Given the description of an element on the screen output the (x, y) to click on. 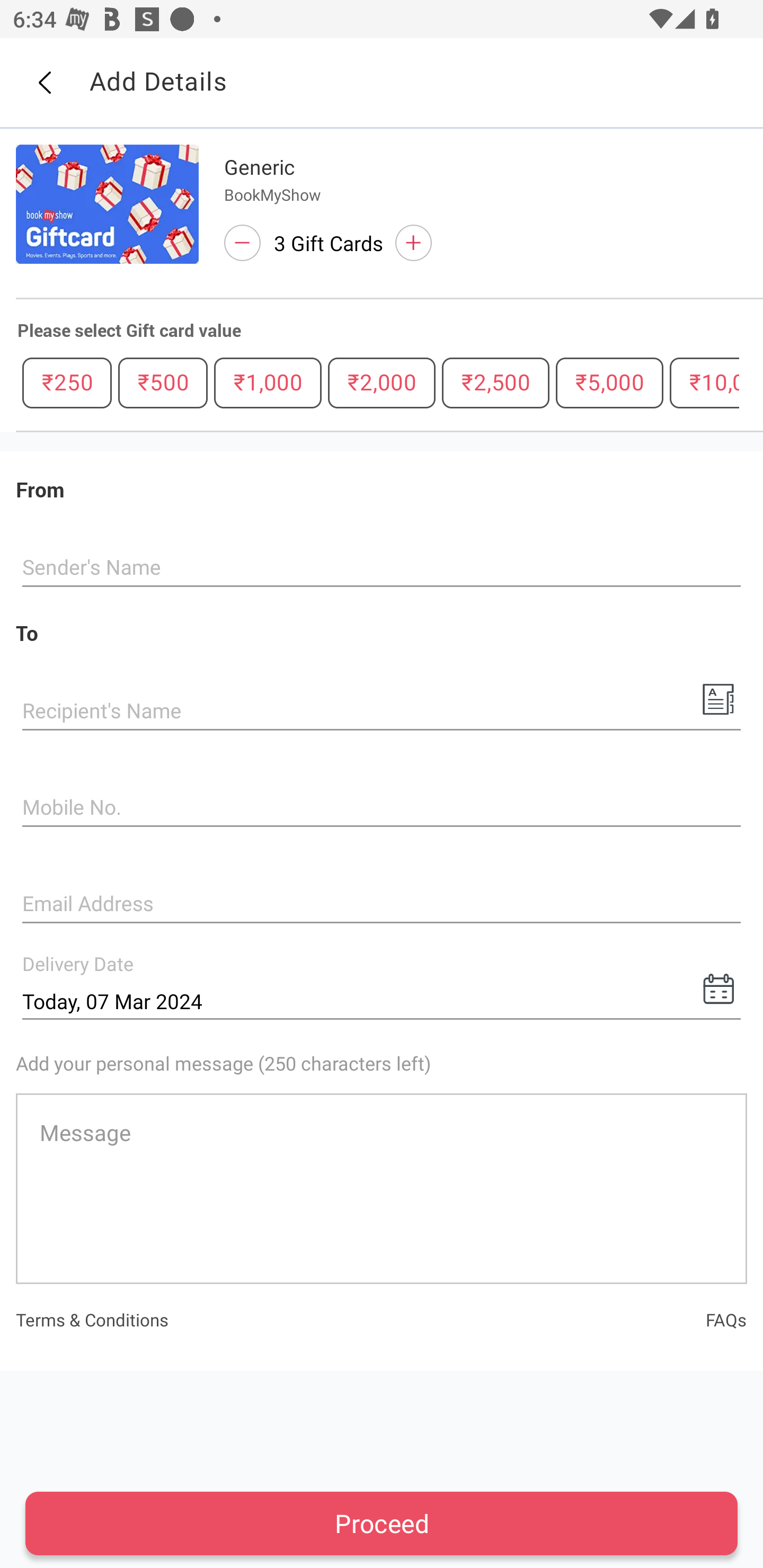
Back (44, 82)
Minus (242, 242)
Plus (413, 242)
₹250 (67, 382)
₹500 (162, 382)
₹1,000 (267, 382)
₹2,000 (381, 382)
₹2,500 (495, 382)
₹5,000 (609, 382)
Sender's Name (381, 567)
Recipient's Name (381, 712)
Mobile No. (381, 807)
Email Address (381, 905)
Today, 07 Mar 2024 (381, 1000)
Message (381, 1188)
FAQs (725, 1319)
Proceed (381, 1523)
